Given the description of an element on the screen output the (x, y) to click on. 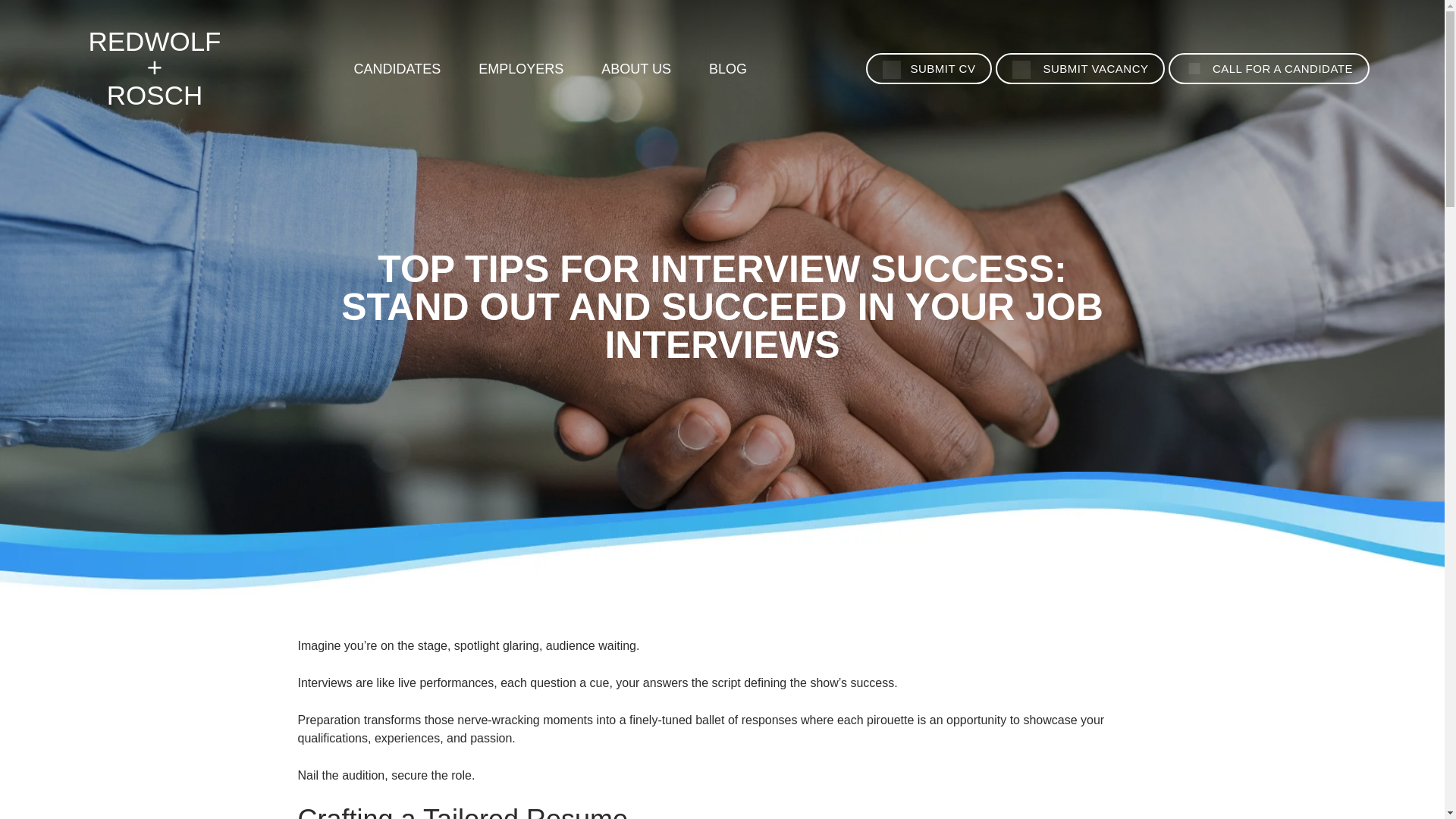
BLOG (727, 69)
CANDIDATES (397, 69)
SUBMIT CV (928, 68)
ABOUT US (636, 69)
CALL FOR A CANDIDATE (1269, 68)
SUBMIT VACANCY (1080, 68)
EMPLOYERS (521, 69)
